Given the description of an element on the screen output the (x, y) to click on. 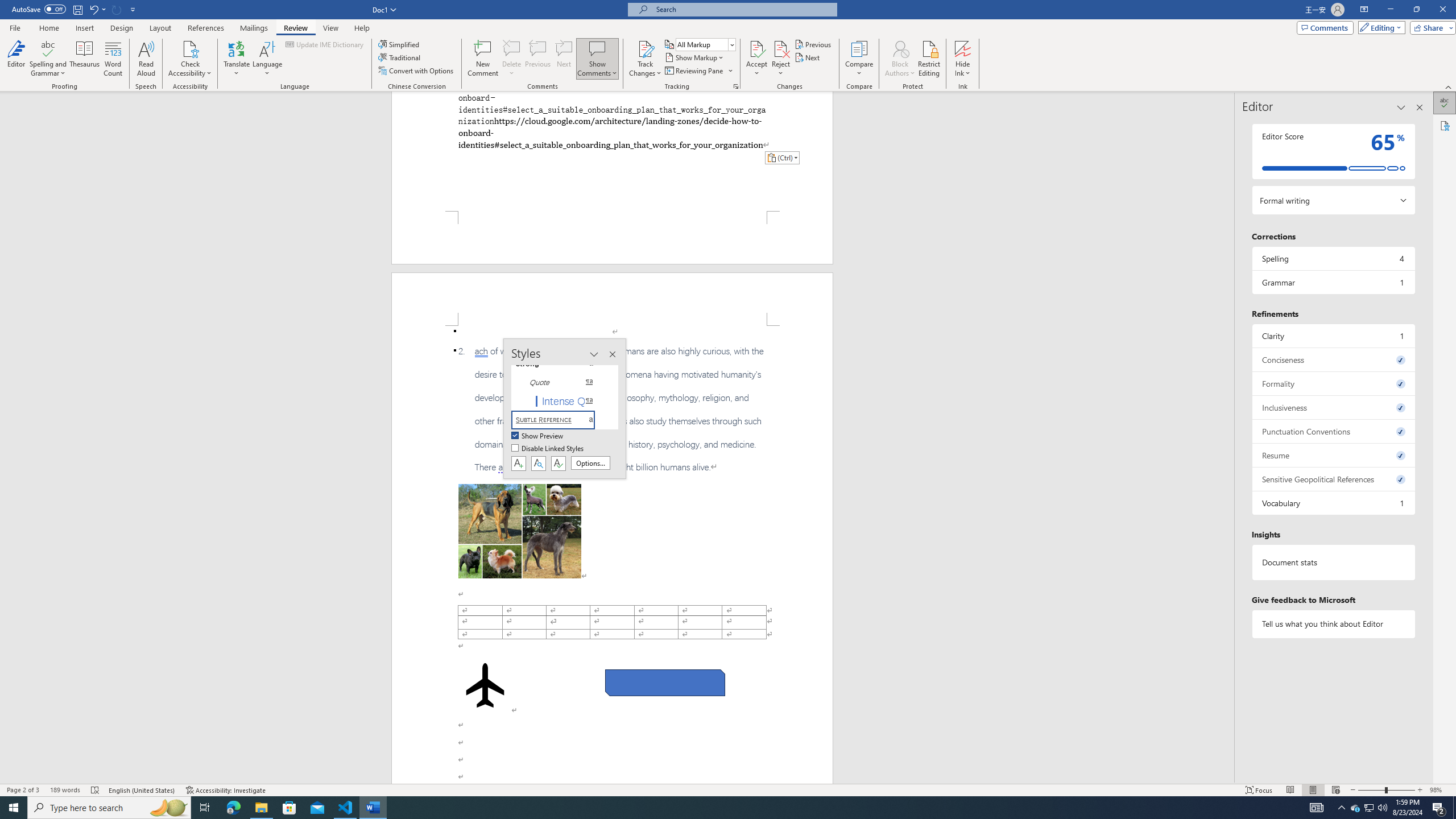
Update IME Dictionary... (324, 44)
Undo Paste (96, 9)
Traditional (400, 56)
Page Number Page 2 of 3 (22, 790)
Word Count (113, 58)
Change Tracking Options... (735, 85)
Page 2 content (611, 554)
Show Preview (537, 436)
Track Changes (644, 48)
Compare (859, 58)
Can't Repeat (117, 9)
Next (808, 56)
